Given the description of an element on the screen output the (x, y) to click on. 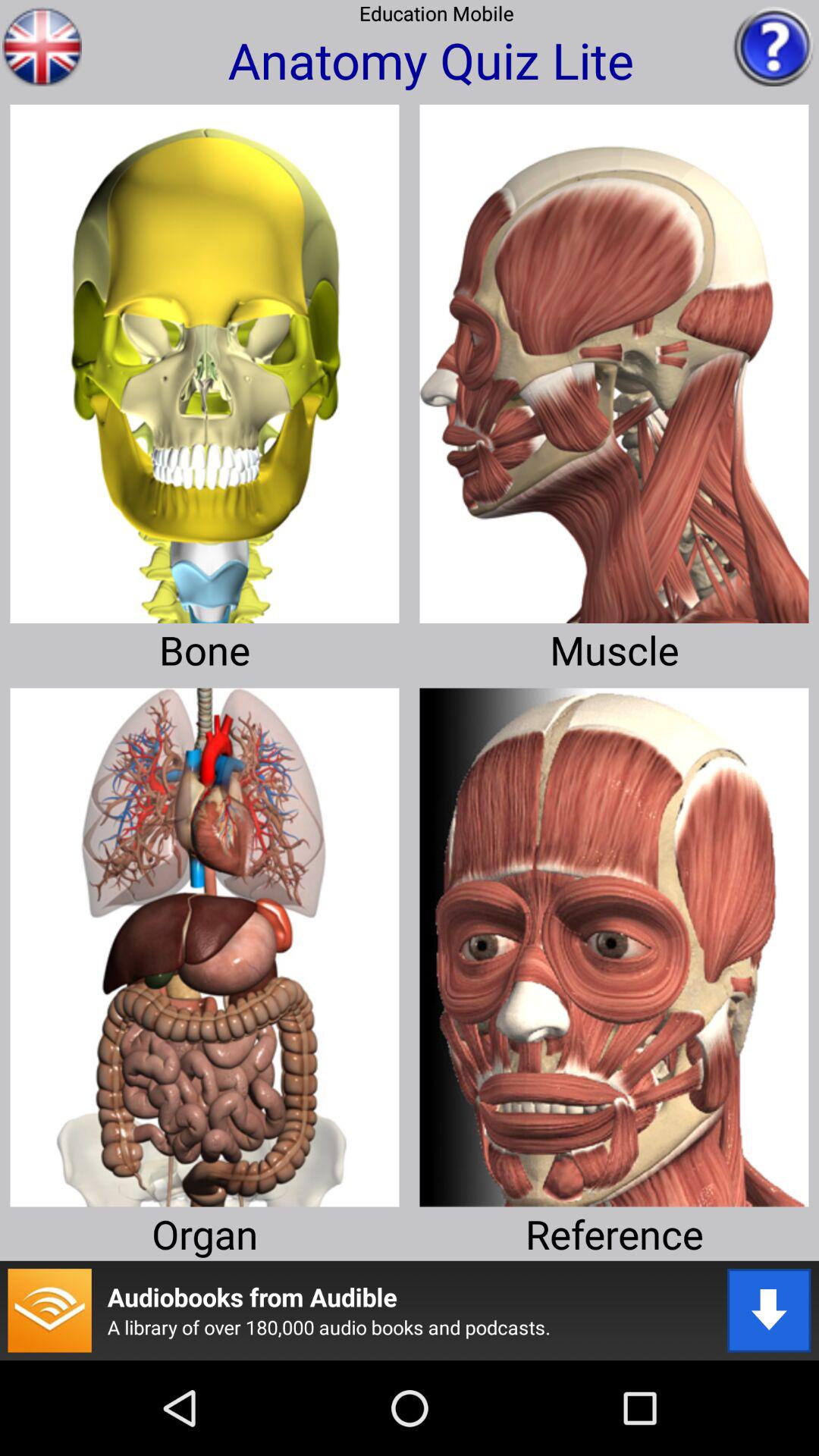
bone quis selection (204, 358)
